Given the description of an element on the screen output the (x, y) to click on. 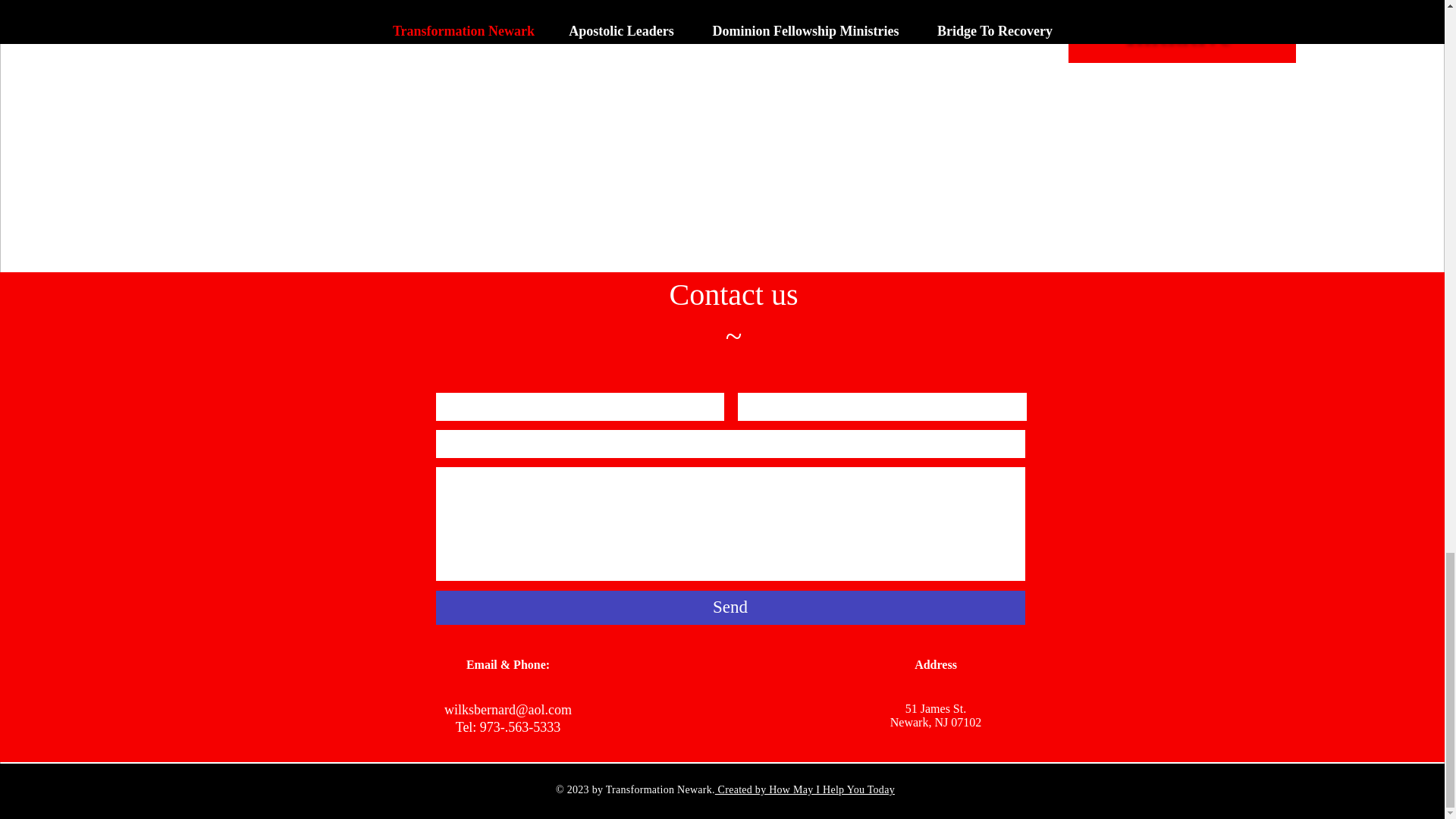
Entrepreneurs (1174, 8)
Send (730, 607)
Created by How May I Help You Today (804, 789)
Initiative (1178, 33)
